Given the description of an element on the screen output the (x, y) to click on. 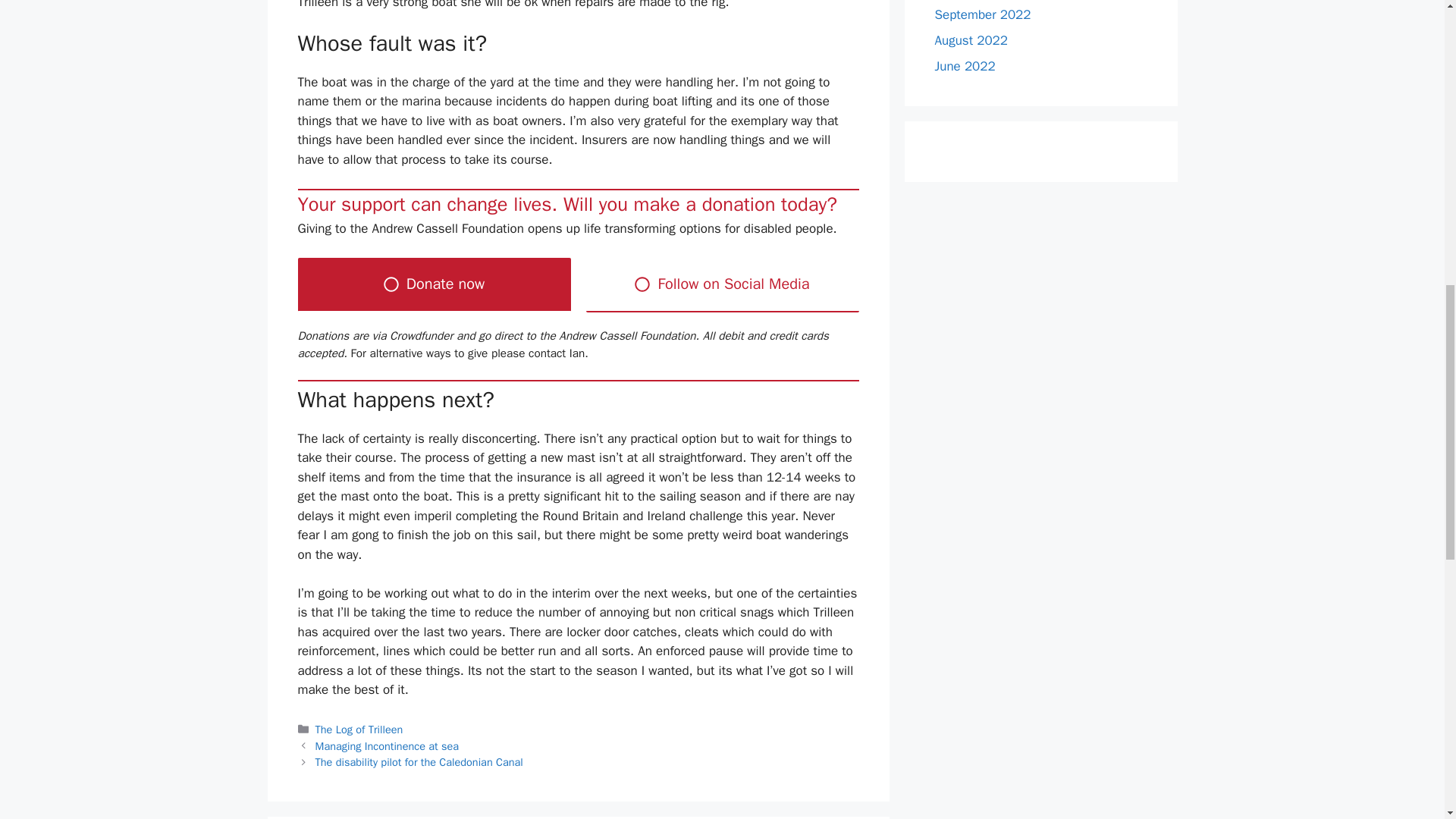
The disability pilot for the Caledonian Canal (418, 762)
Next (418, 762)
September 2022 (982, 13)
June 2022 (964, 65)
August 2022 (970, 39)
Previous (386, 745)
Donate now (433, 284)
The Log of Trilleen (359, 729)
Managing Incontinence at sea (386, 745)
